Given the description of an element on the screen output the (x, y) to click on. 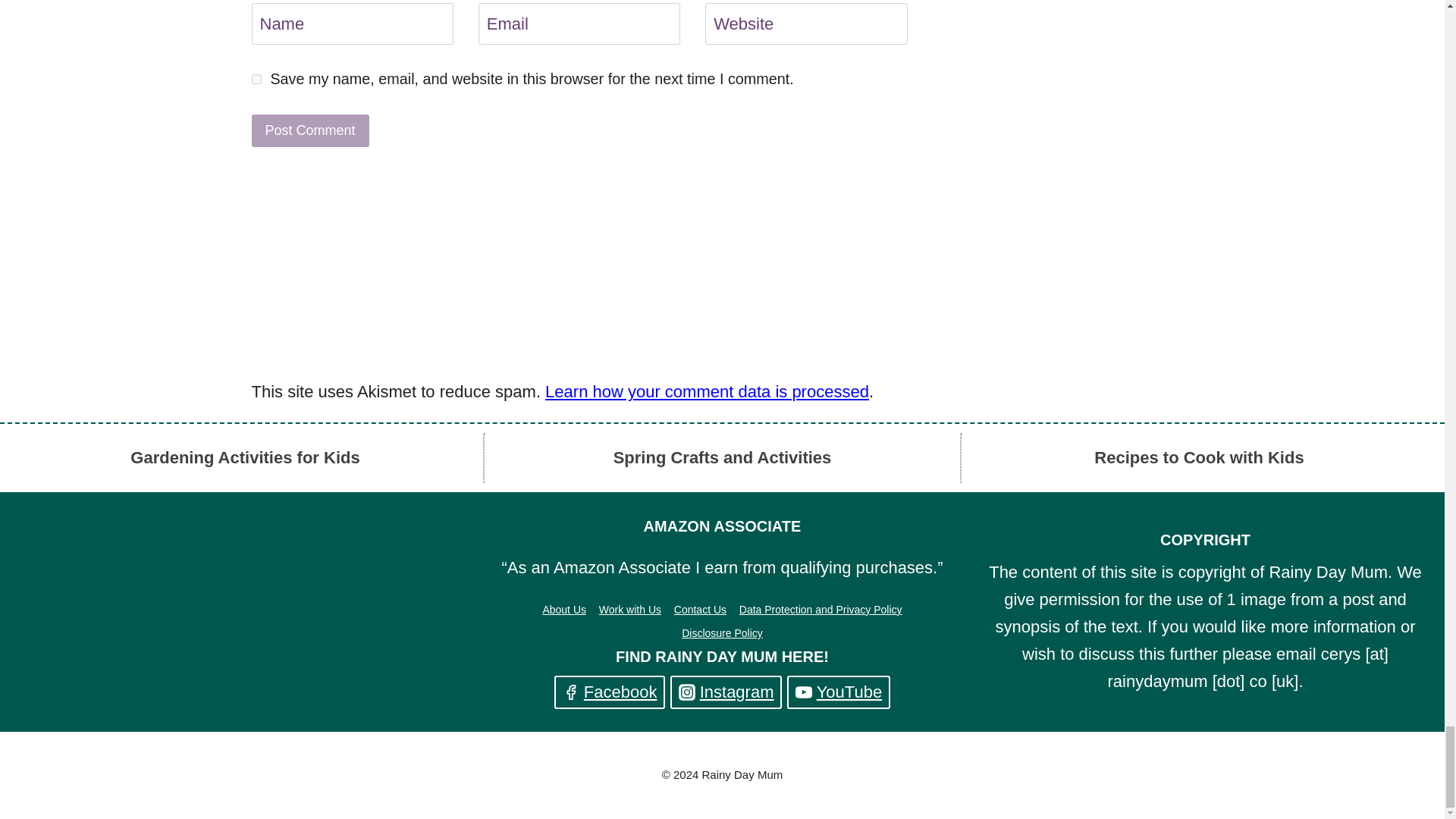
yes (256, 79)
Post Comment (310, 130)
